Given the description of an element on the screen output the (x, y) to click on. 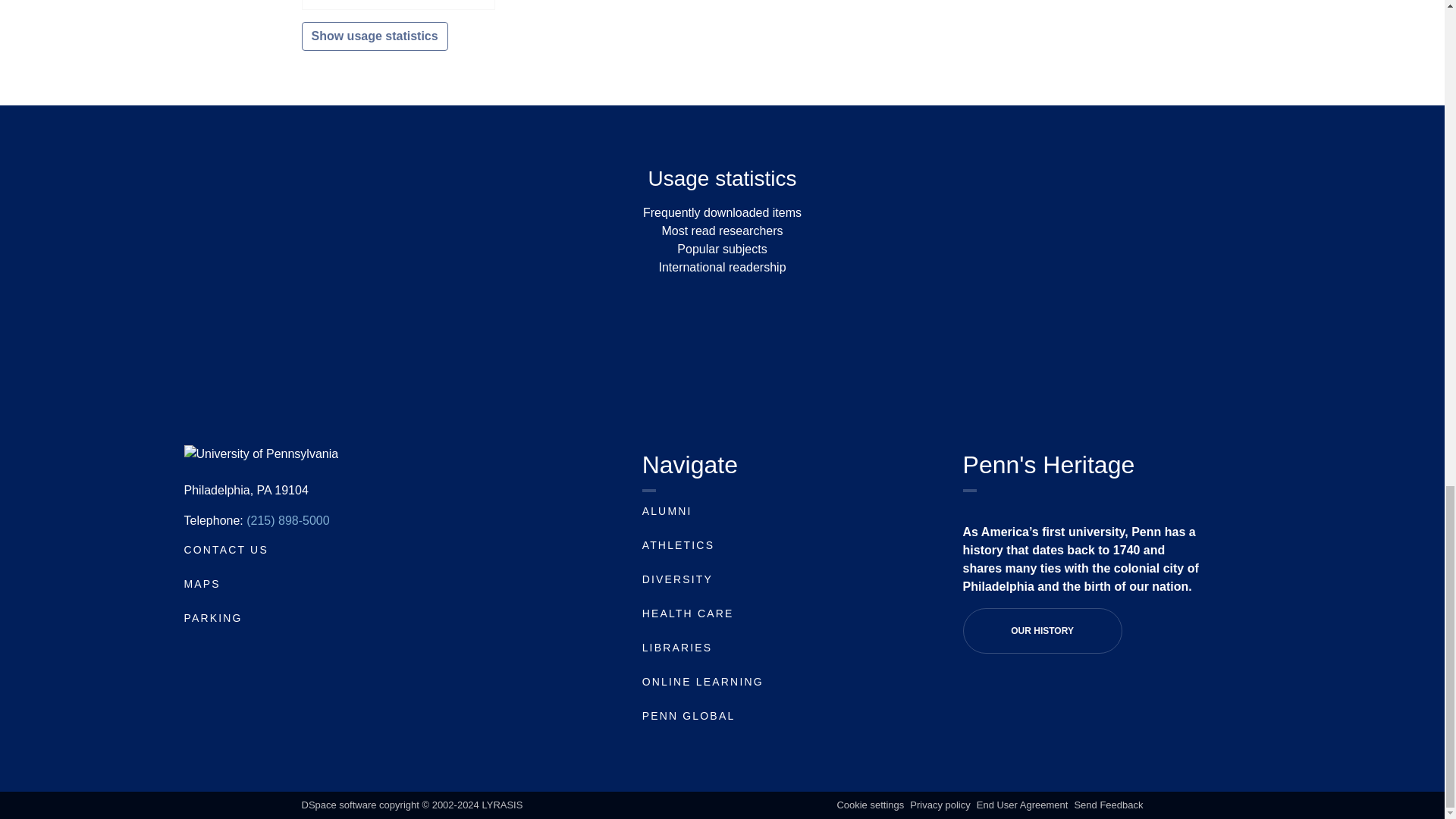
Popular subjects (722, 248)
International readership (722, 267)
Most read researchers (722, 230)
Frequently downloaded items (722, 212)
